Given the description of an element on the screen output the (x, y) to click on. 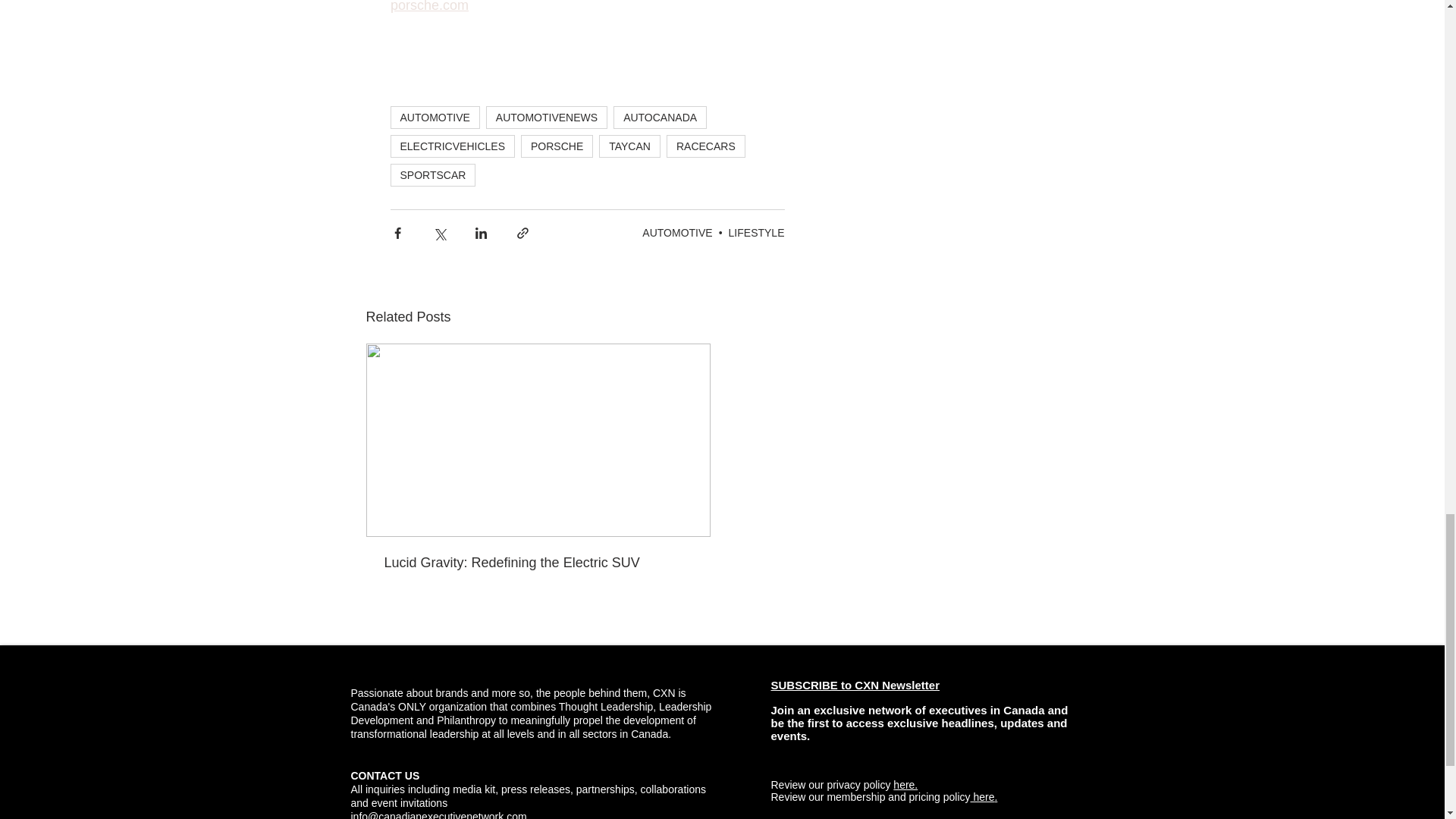
RACECARS (705, 146)
SPORTSCAR (433, 174)
LIFESTYLE (756, 232)
AUTOMOTIVENEWS (546, 117)
TAYCAN (629, 146)
AUTOMOTIVE (434, 117)
Lucid Gravity: Redefining the Electric SUV (537, 562)
PORSCHE (556, 146)
AUTOCANADA (659, 117)
porsche.com (428, 6)
